Given the description of an element on the screen output the (x, y) to click on. 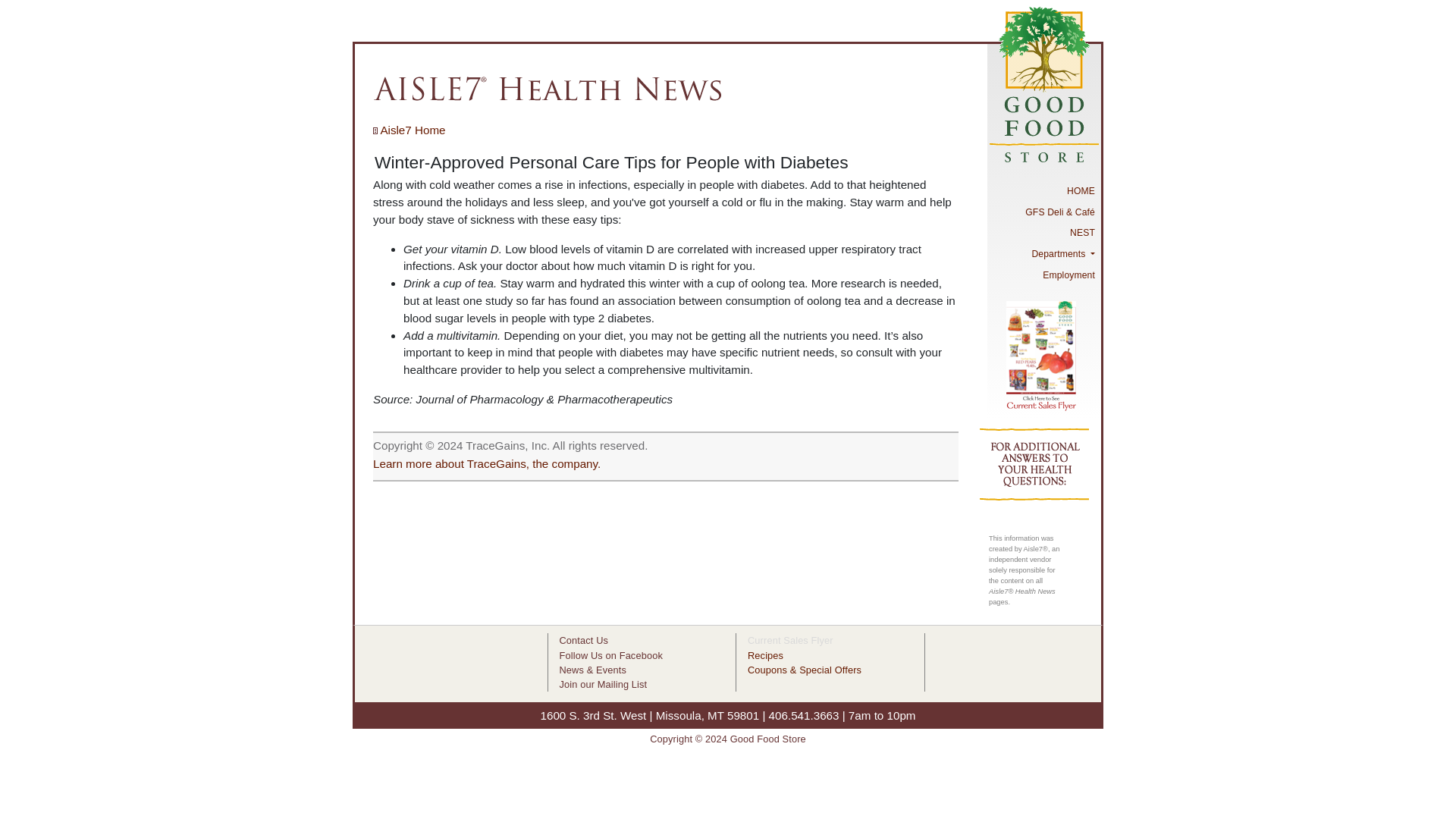
Aisle7 Home (408, 129)
NEST (1043, 233)
Learn more about TraceGains, the company. (485, 463)
Join Us on Facebook (610, 655)
Join our Mailing List (603, 684)
Employment (1043, 274)
HOME (1043, 190)
Departments (1043, 253)
Follow Us on Facebook (610, 655)
Current Sales Flyer (790, 640)
Contact Us (583, 640)
Recipes (765, 655)
